Given the description of an element on the screen output the (x, y) to click on. 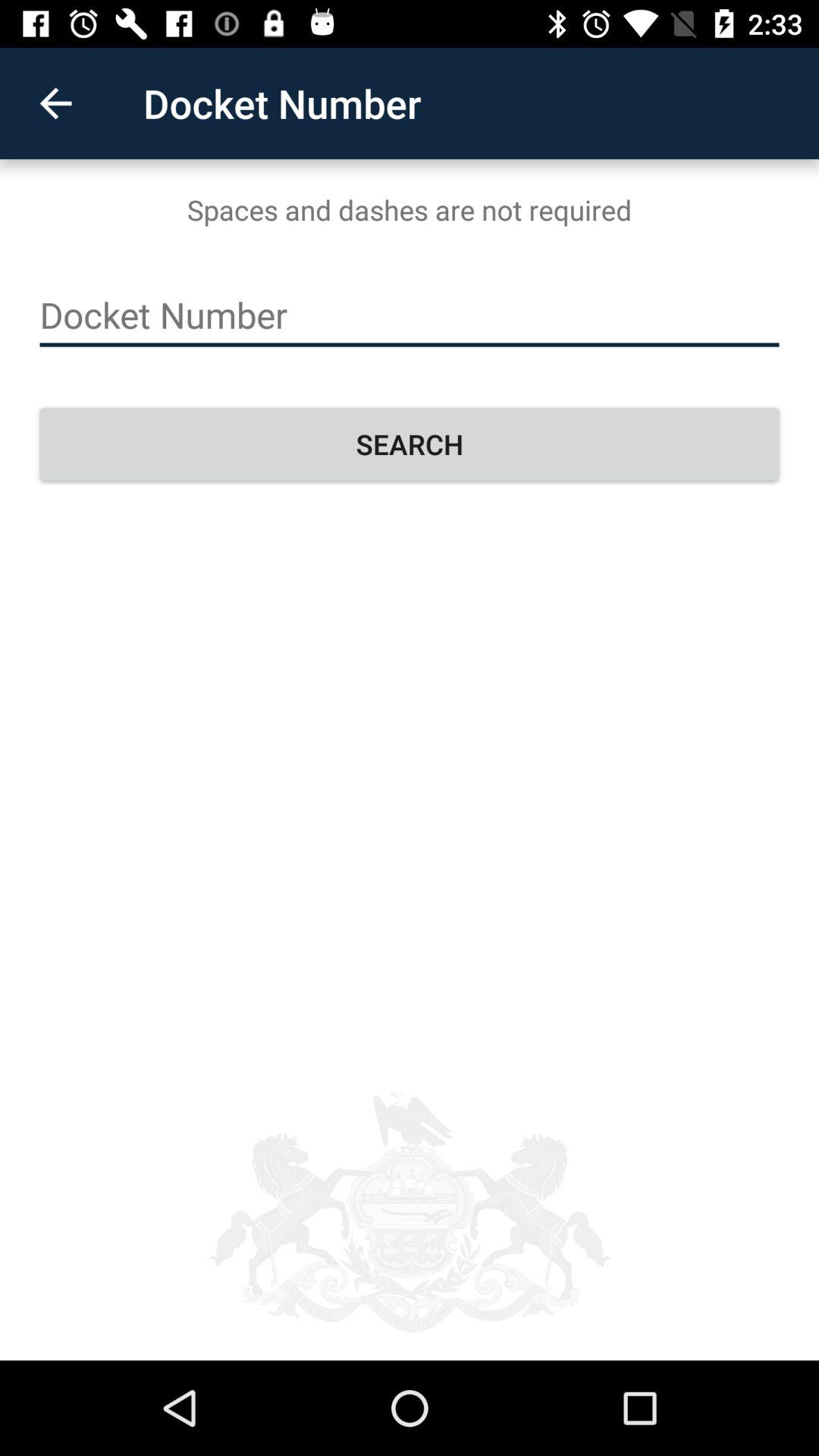
enter docket number (409, 315)
